Given the description of an element on the screen output the (x, y) to click on. 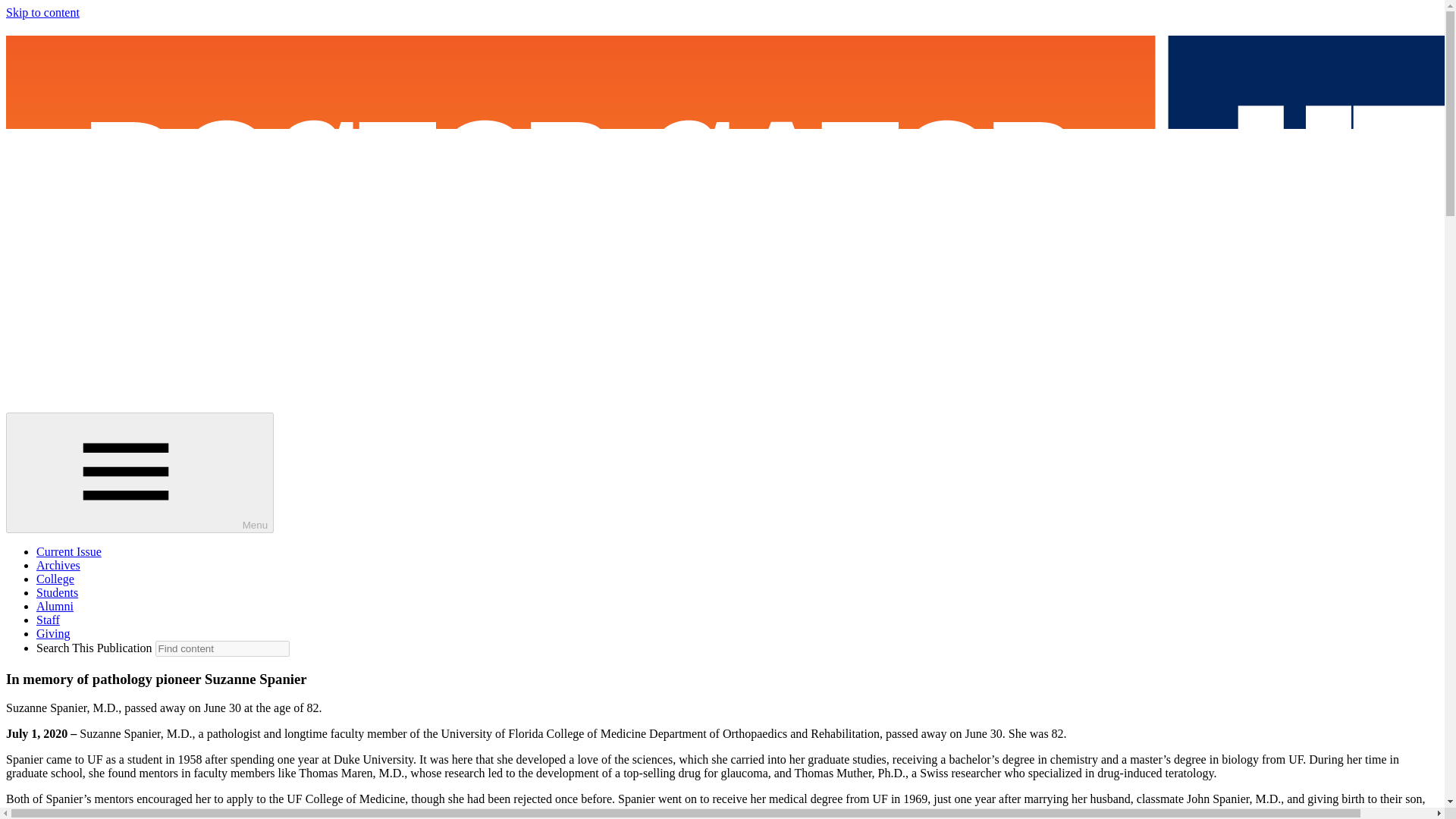
Menu (139, 472)
Skip to content (42, 11)
Alumni (55, 605)
Students (57, 592)
Current Issue (68, 551)
Staff (47, 619)
Giving (52, 633)
College (55, 578)
Archives (58, 564)
